Given the description of an element on the screen output the (x, y) to click on. 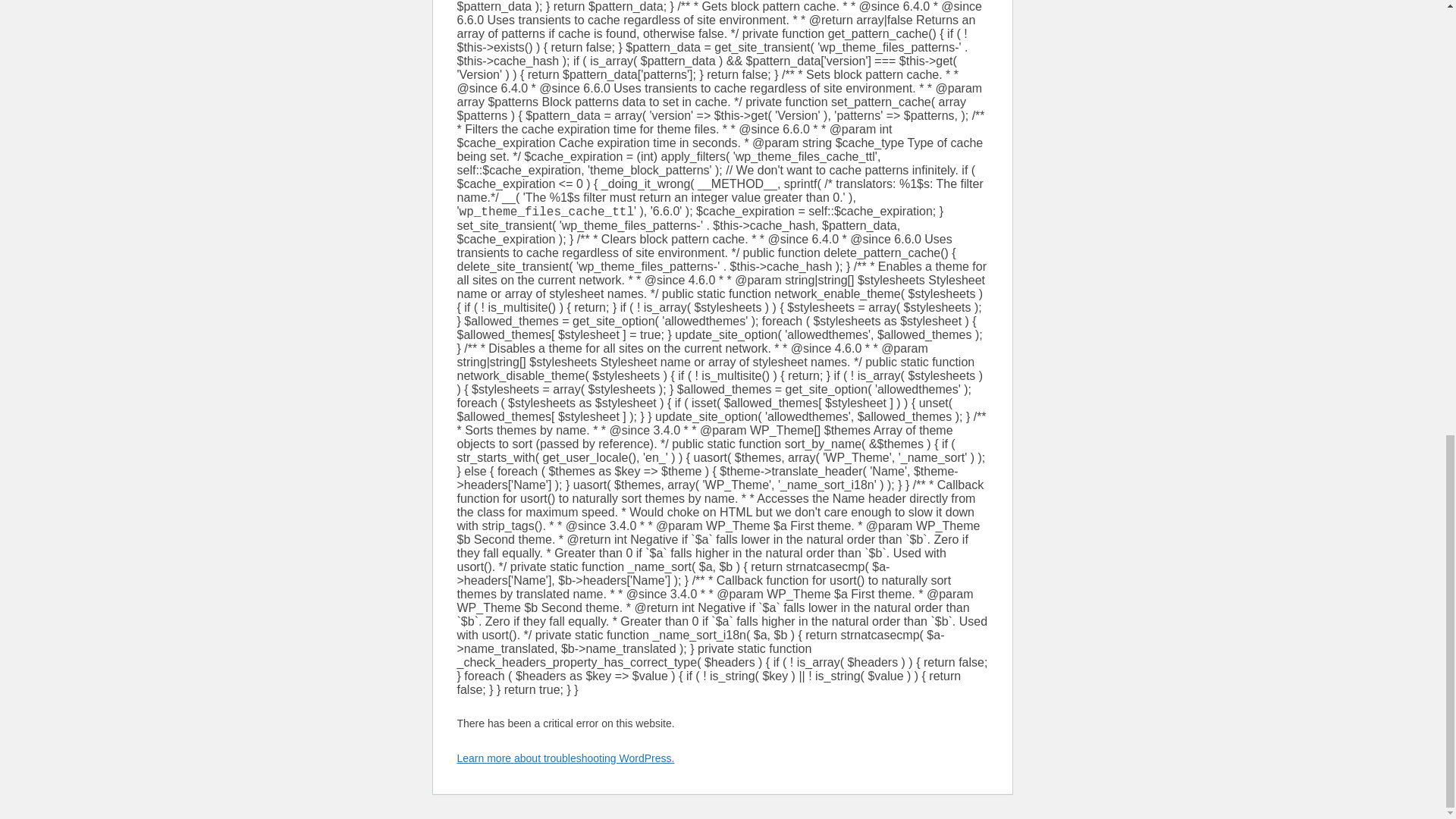
Learn more about troubleshooting WordPress. (565, 758)
